Given the description of an element on the screen output the (x, y) to click on. 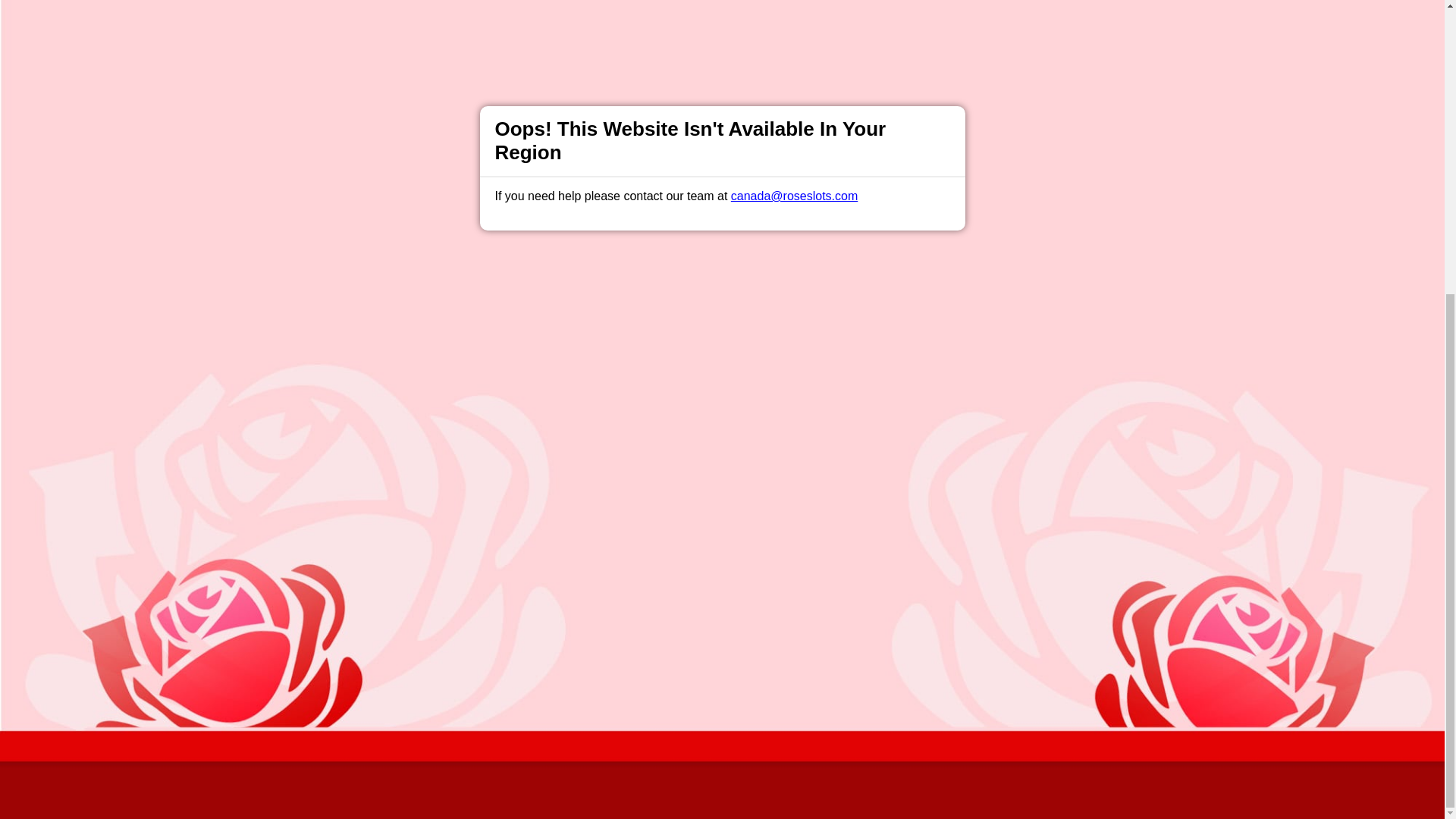
Blog (738, 502)
Privacy Policy (671, 502)
Jumpman Gaming Limited (532, 705)
Responsible Gaming (407, 502)
Affiliates (791, 502)
Back To All Games (722, 404)
Back To All Games (721, 404)
Help (489, 502)
www.jumpmancares.co.uk (616, 668)
